Given the description of an element on the screen output the (x, y) to click on. 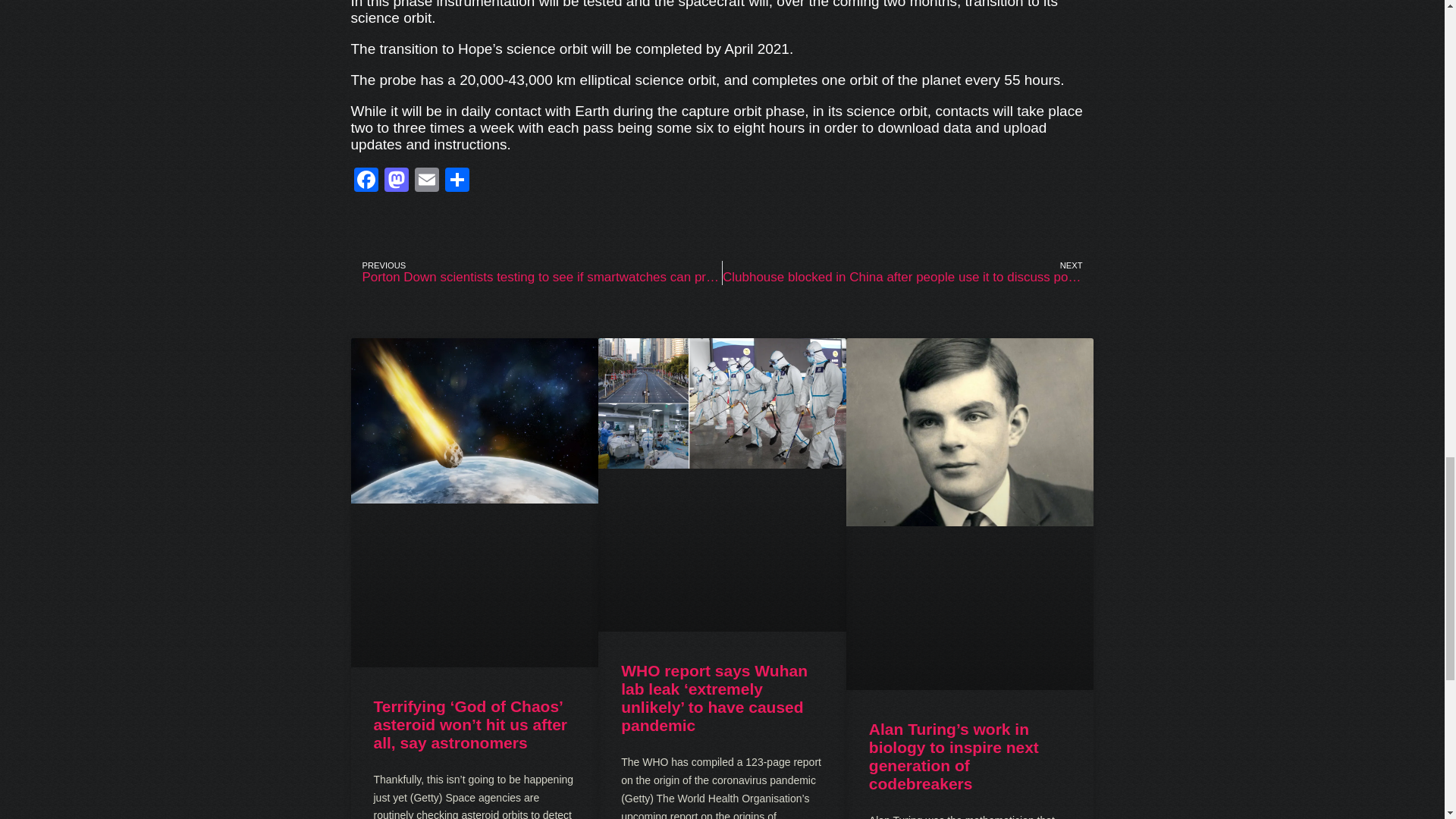
Email (425, 181)
Email (425, 181)
Facebook (365, 181)
Mastodon (395, 181)
Share (456, 181)
Facebook (365, 181)
Mastodon (395, 181)
